Given the description of an element on the screen output the (x, y) to click on. 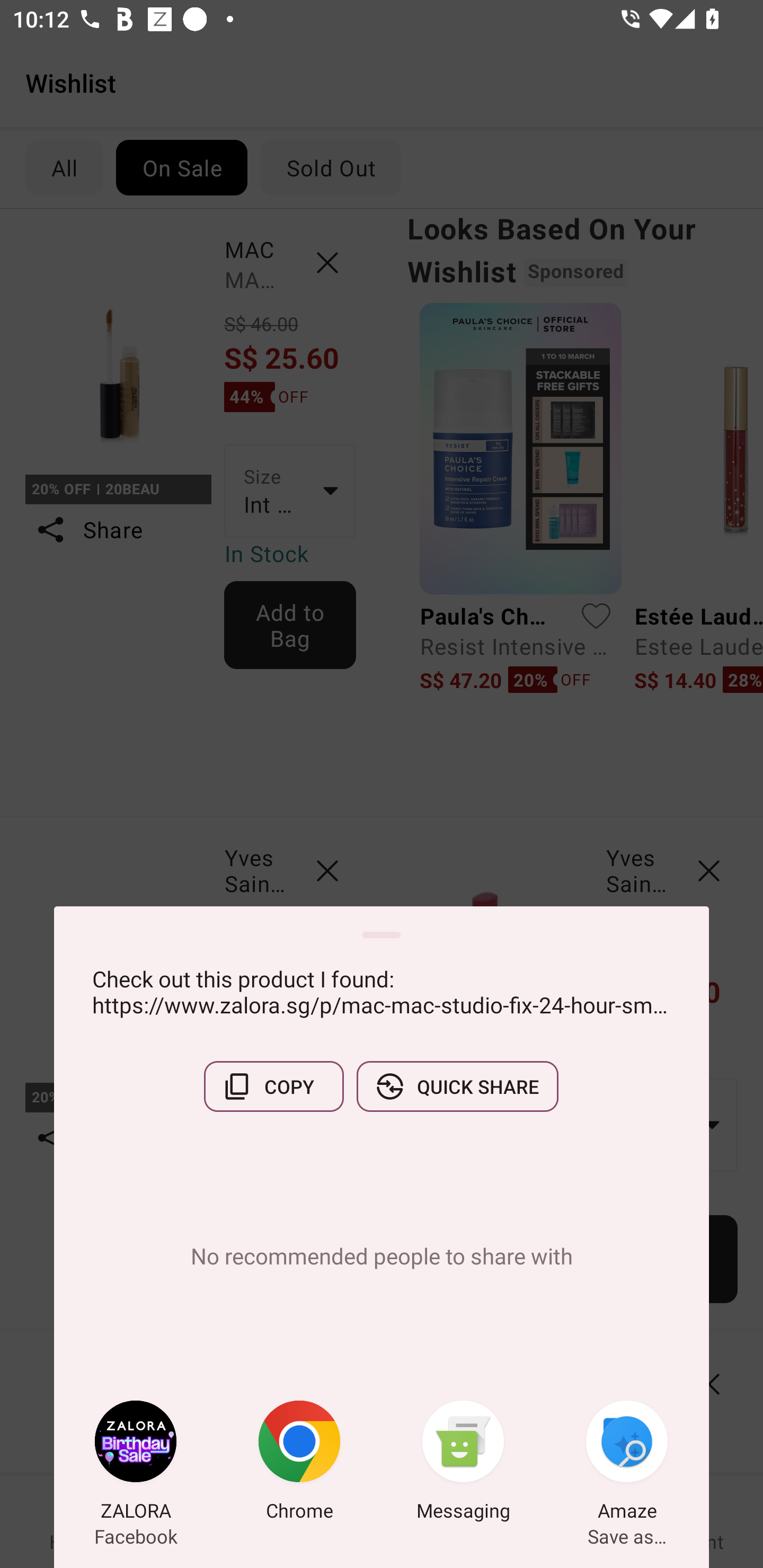
COPY (273, 1086)
QUICK SHARE (457, 1086)
ZALORA Facebook (135, 1463)
Chrome (299, 1463)
Messaging (463, 1463)
Amaze Save as… (626, 1463)
